Given the description of an element on the screen output the (x, y) to click on. 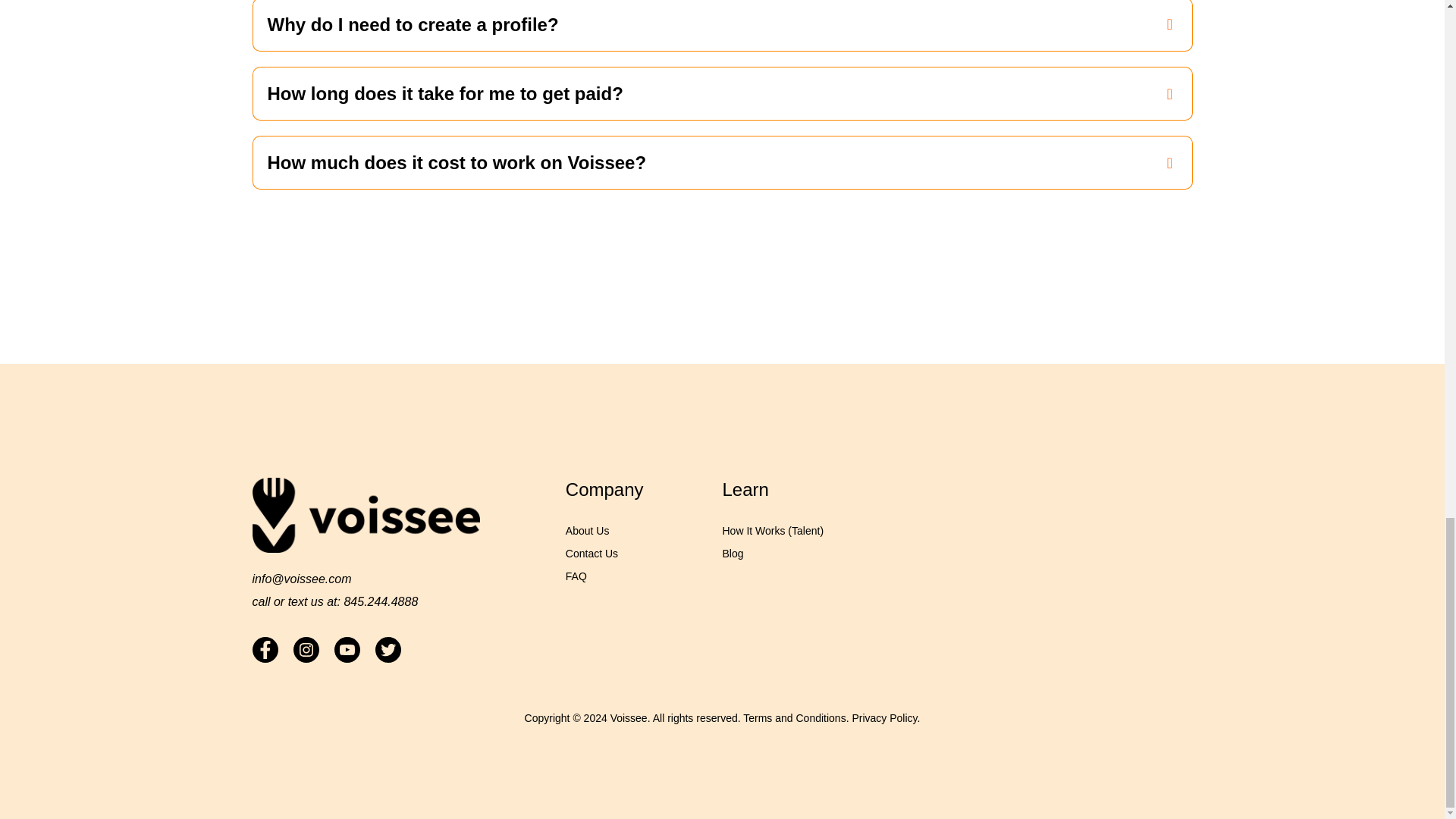
About Us (588, 530)
Blog (732, 553)
Terms and Conditions (793, 717)
Voissee (628, 717)
FAQ (576, 576)
Contact Us (591, 553)
845.244.4888 (380, 601)
Privacy Policy (884, 717)
